Given the description of an element on the screen output the (x, y) to click on. 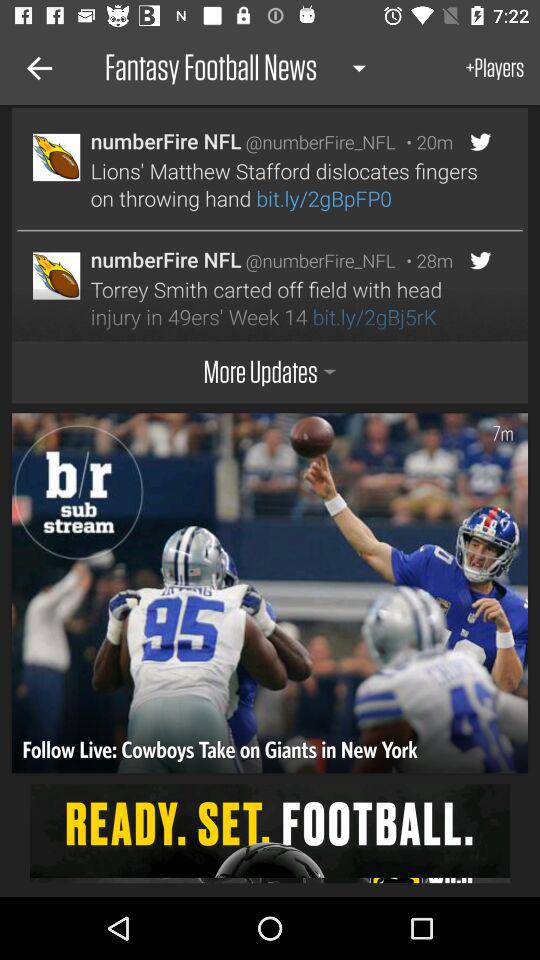
choose more updates (269, 372)
